Given the description of an element on the screen output the (x, y) to click on. 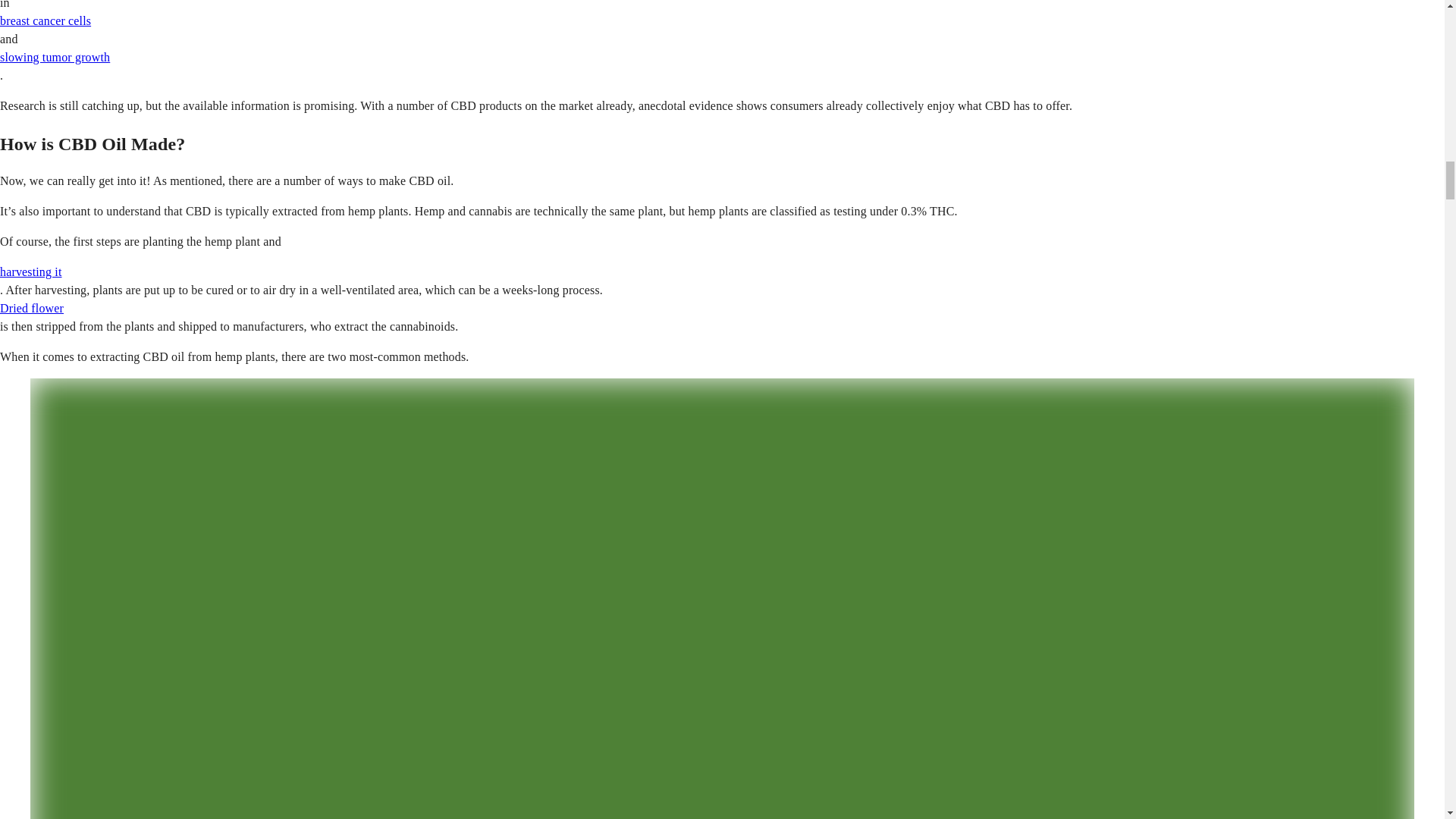
slowing tumor growth (55, 56)
Dried flower (32, 308)
breast cancer cells (45, 20)
harvesting it (31, 271)
